Given the description of an element on the screen output the (x, y) to click on. 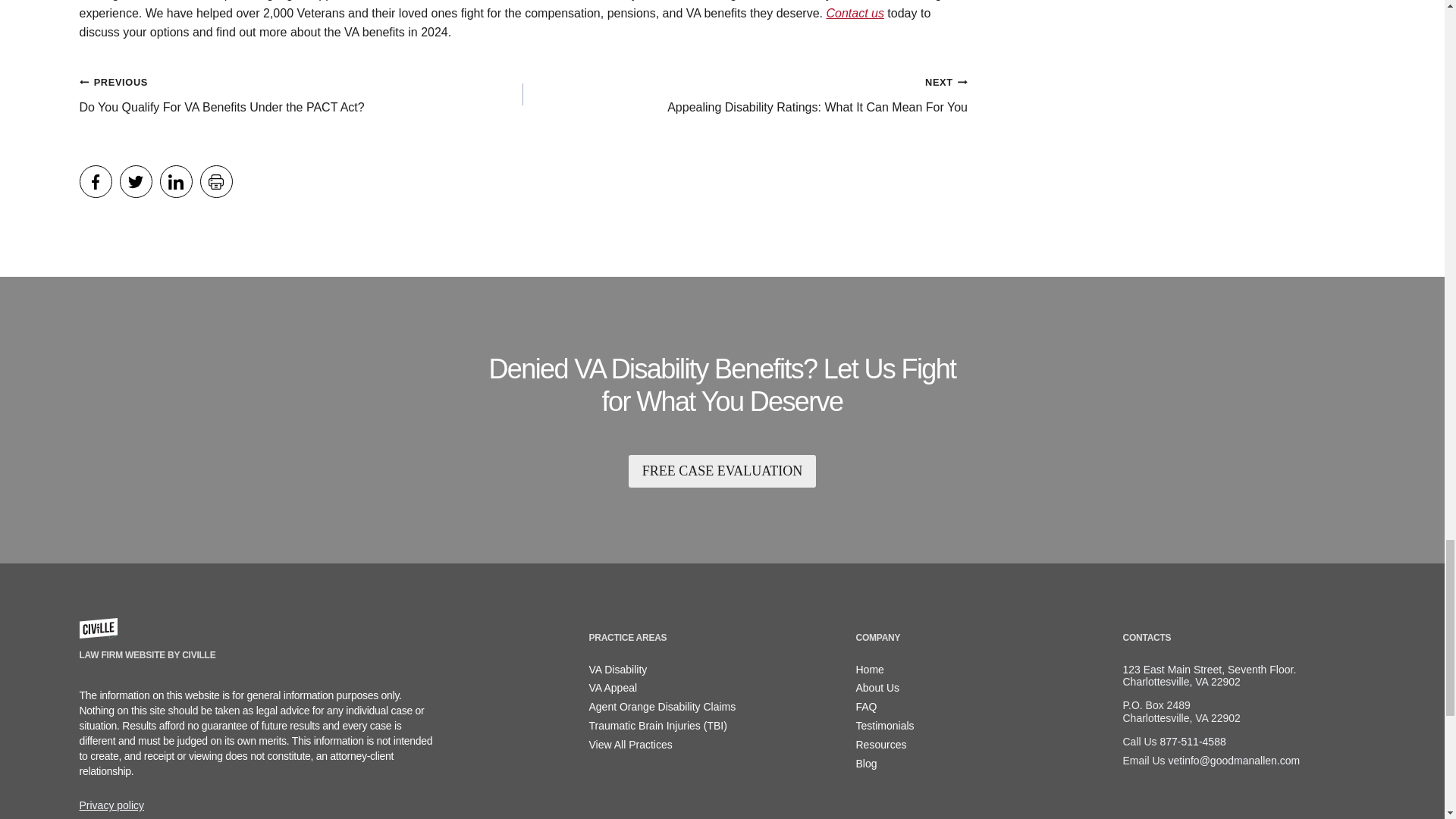
Share in Facebook (95, 181)
Share in LinkedIn (175, 181)
Contact us (854, 12)
Print the page (300, 94)
Share in Twitter (216, 181)
